Given the description of an element on the screen output the (x, y) to click on. 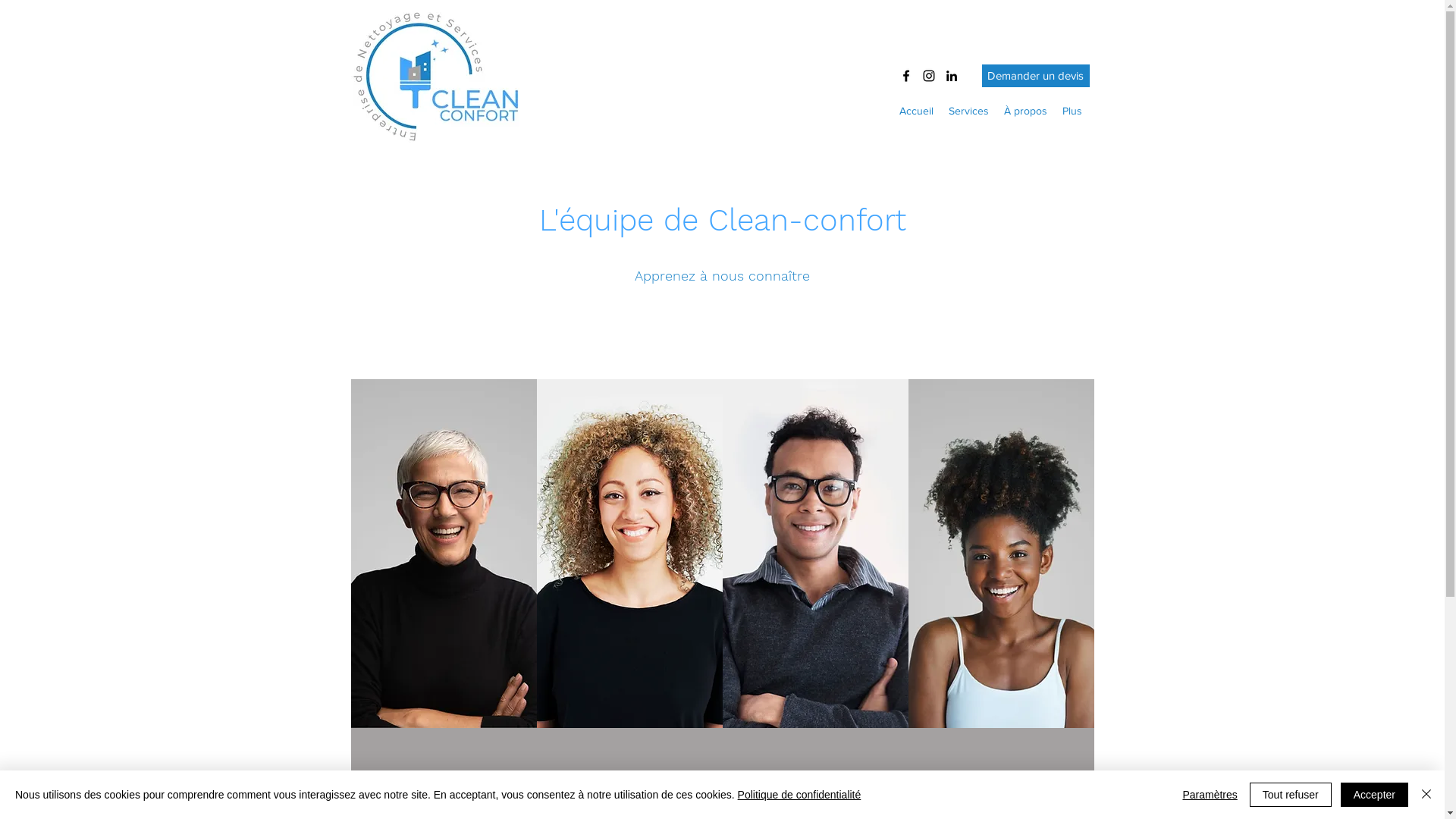
Services Element type: text (967, 110)
Demander un devis Element type: text (1034, 75)
Tout refuser Element type: text (1290, 794)
Accueil Element type: text (916, 110)
Accepter Element type: text (1374, 794)
